Given the description of an element on the screen output the (x, y) to click on. 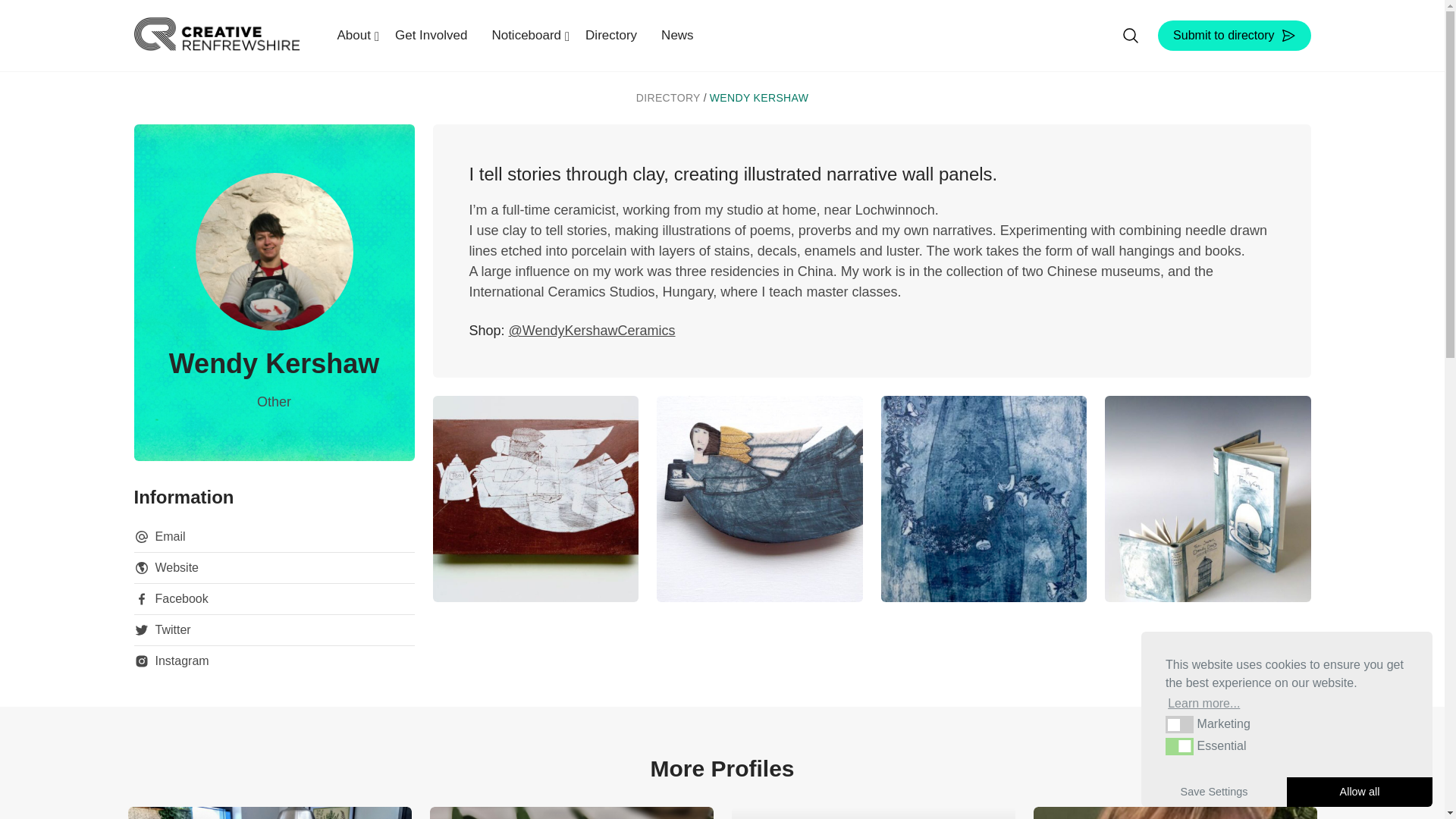
DIRECTORY (668, 98)
Get Involved (430, 35)
About (352, 35)
Noticeboard (526, 35)
Website (165, 567)
Facebook (170, 598)
Instagram (170, 660)
Submit to directory (1233, 35)
Directory (611, 35)
Twitter (161, 629)
News (677, 35)
Email (158, 536)
WENDY KERSHAW (759, 98)
Other (274, 401)
